Given the description of an element on the screen output the (x, y) to click on. 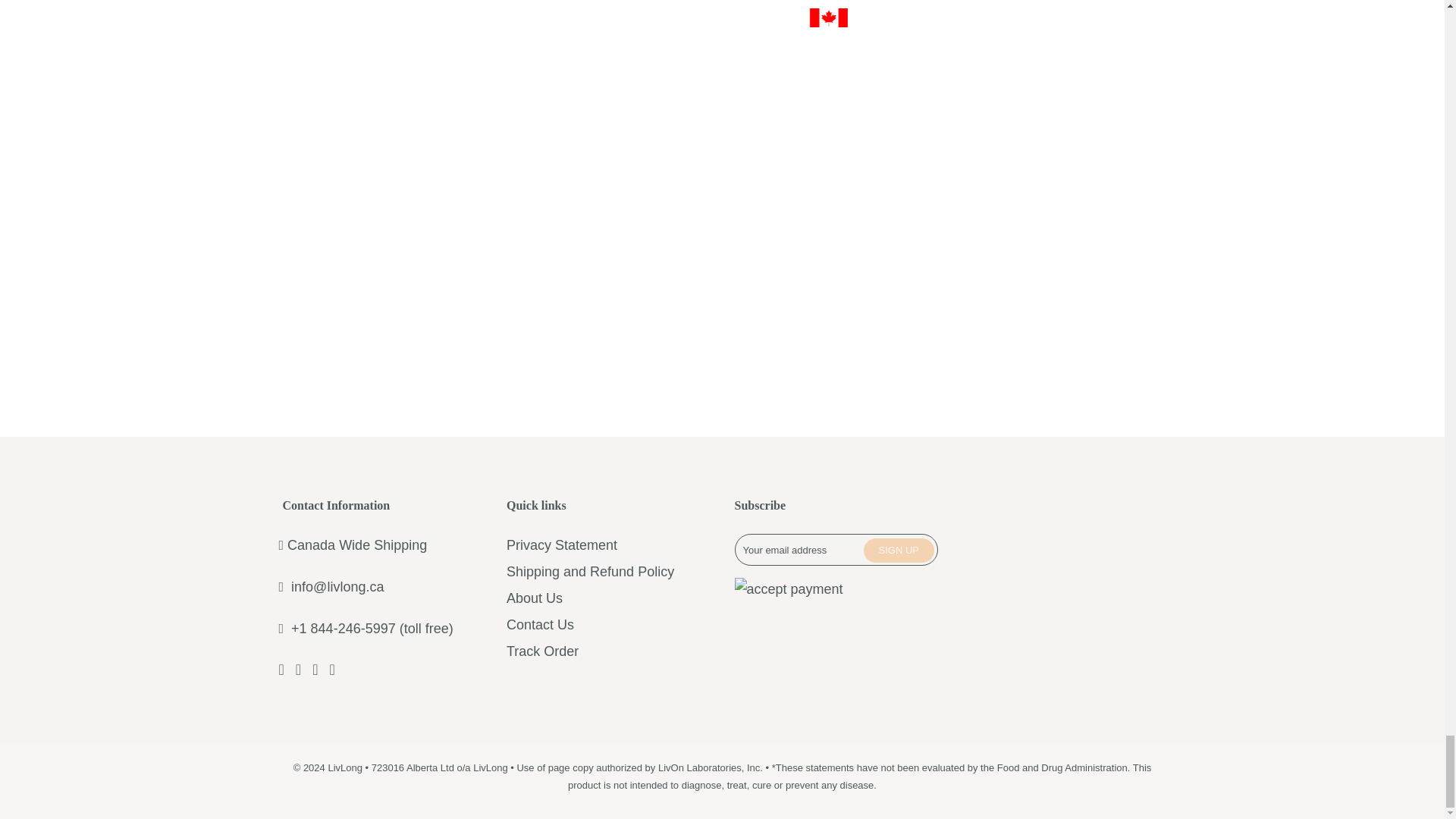
Sign up (898, 550)
